Given the description of an element on the screen output the (x, y) to click on. 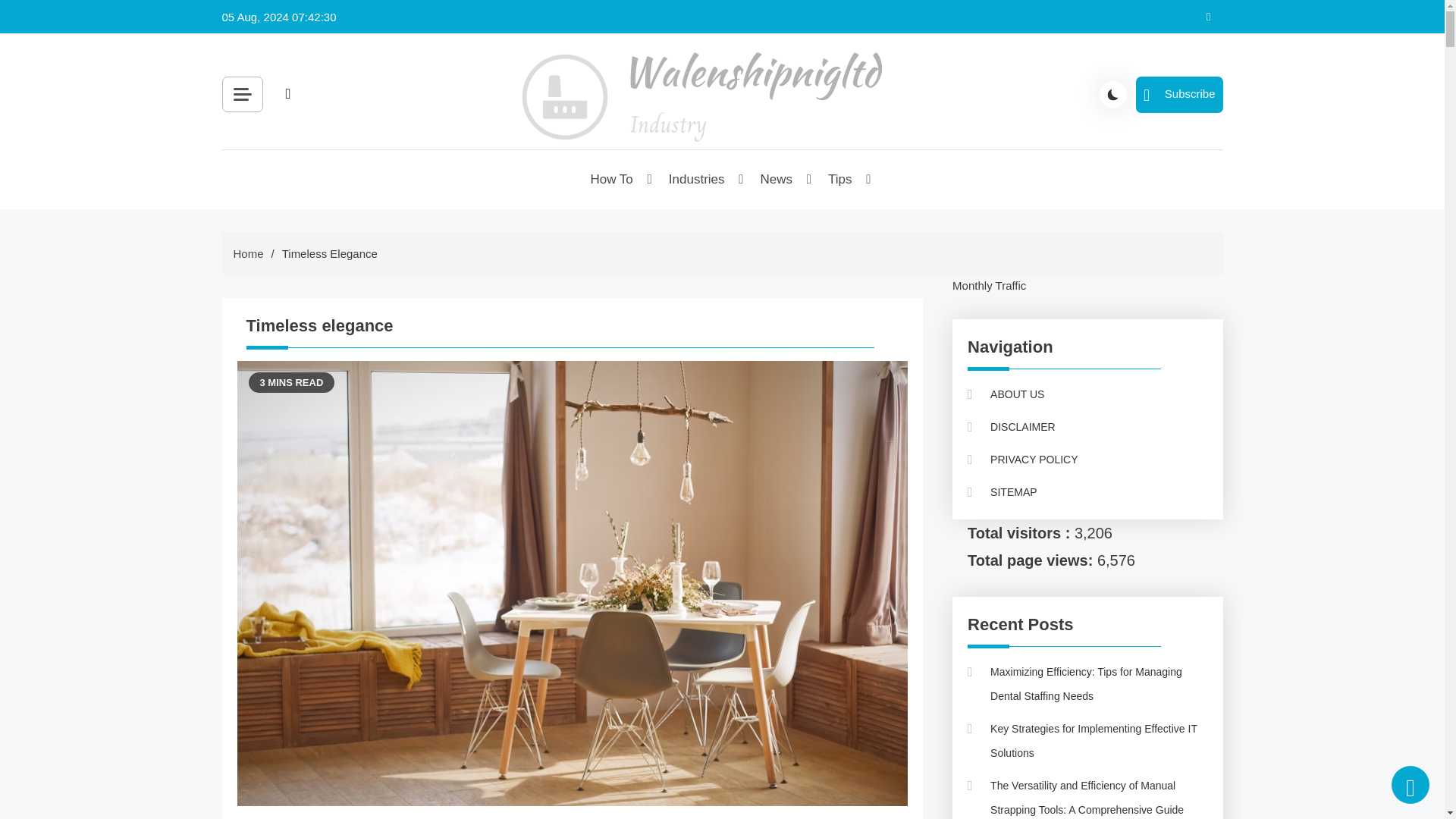
Walenshipnigltd (608, 169)
Industries (698, 179)
How To (611, 179)
News (778, 179)
Subscribe (1179, 94)
Tips (840, 179)
Home (247, 253)
site mode button (1112, 93)
Search (458, 128)
